Given the description of an element on the screen output the (x, y) to click on. 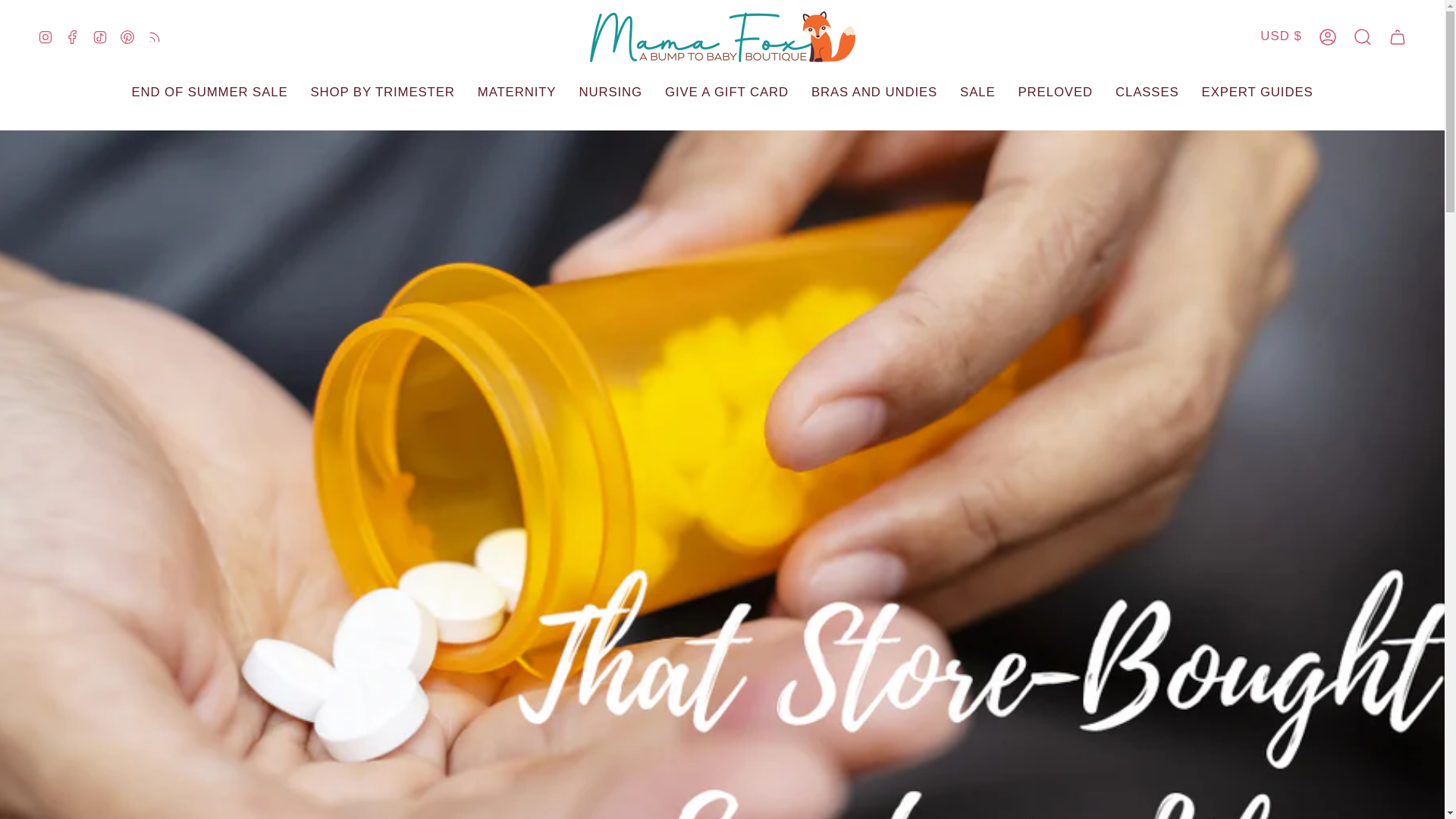
SHOP BY TRIMESTER (292, 92)
MATERNITY (428, 92)
